Given the description of an element on the screen output the (x, y) to click on. 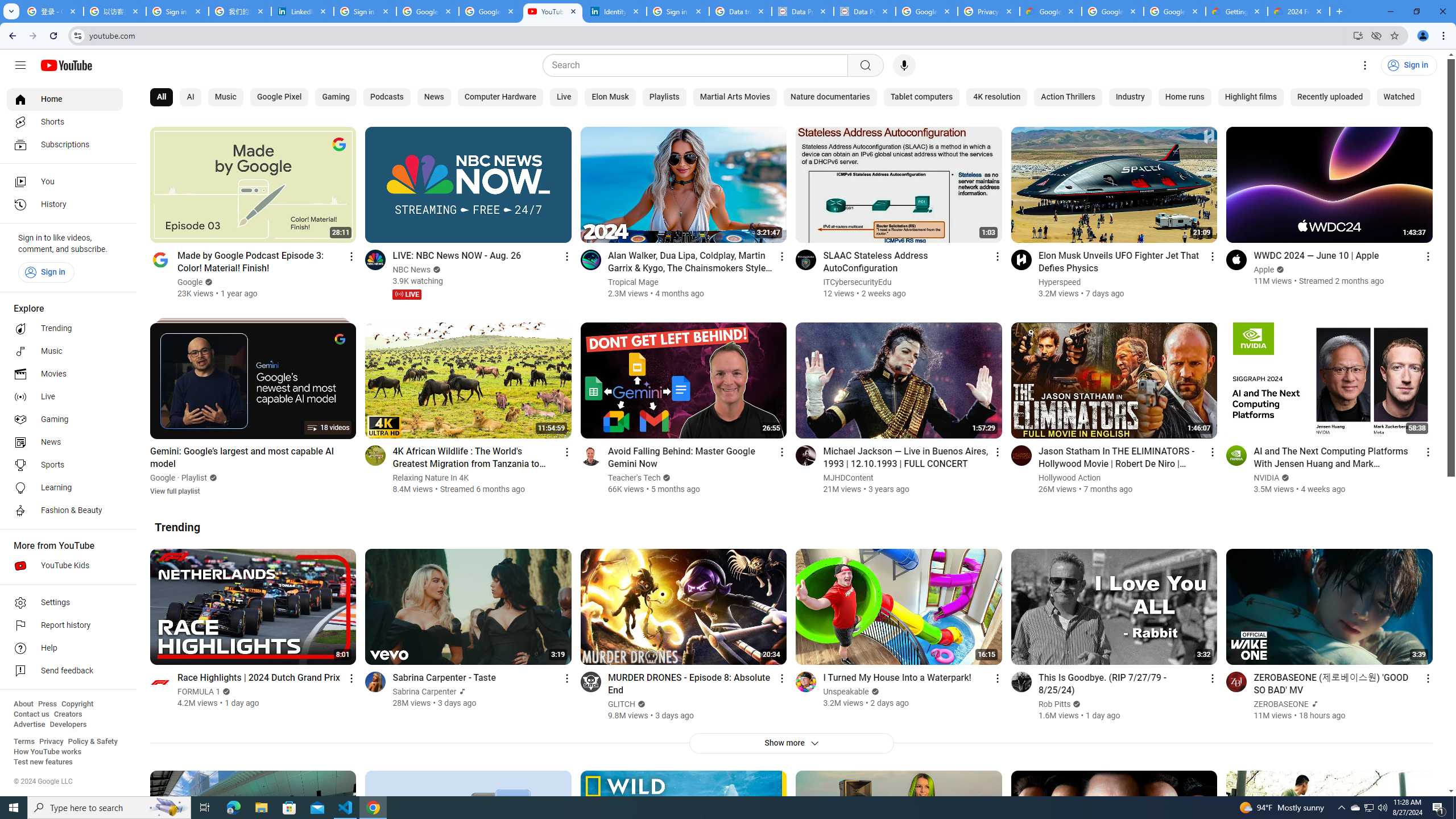
Subscriptions (64, 144)
Google Pixel (278, 97)
View full playlist (174, 490)
ZEROBASEONE (1281, 704)
Music (64, 350)
Copyright (77, 703)
Go to channel (1236, 681)
Relaxing Nature In 4K (431, 477)
